Given the description of an element on the screen output the (x, y) to click on. 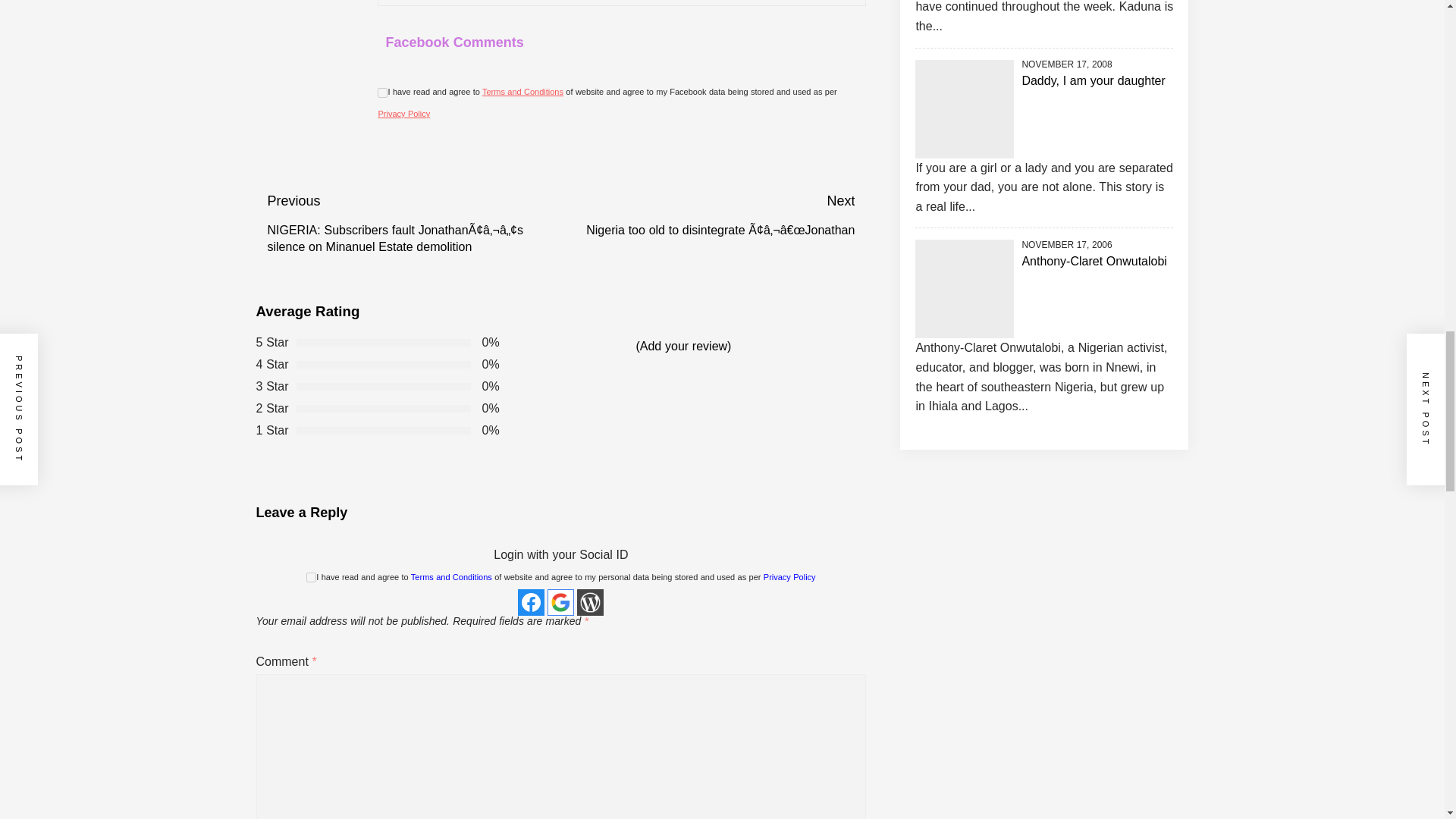
Login with Wordpress (590, 601)
1 (382, 92)
1 (310, 577)
Login with Facebook (531, 601)
Login with Google (560, 601)
